Given the description of an element on the screen output the (x, y) to click on. 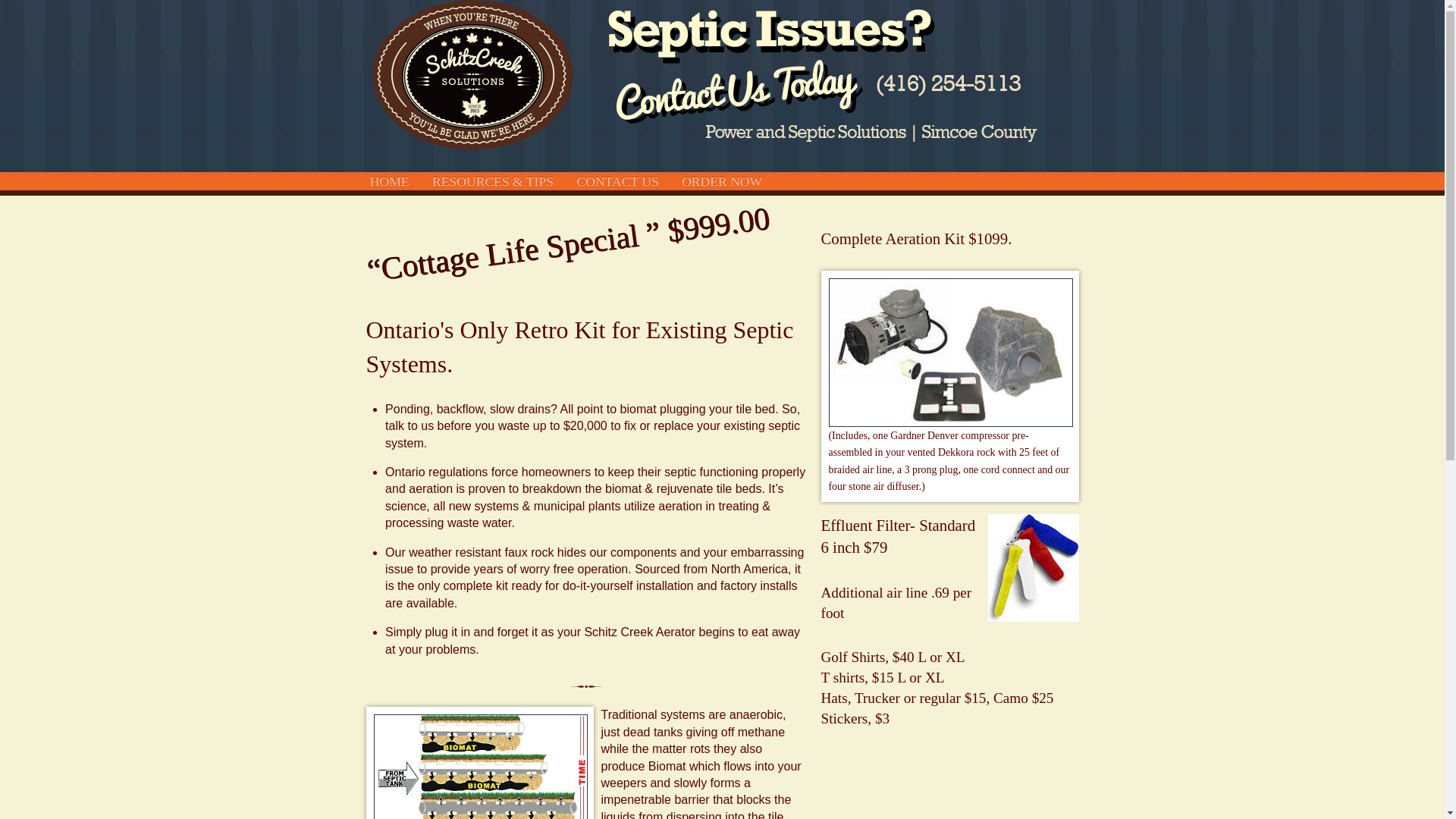
HOME (389, 181)
ORDER NOW (721, 181)
CONTACT US (616, 181)
